Given the description of an element on the screen output the (x, y) to click on. 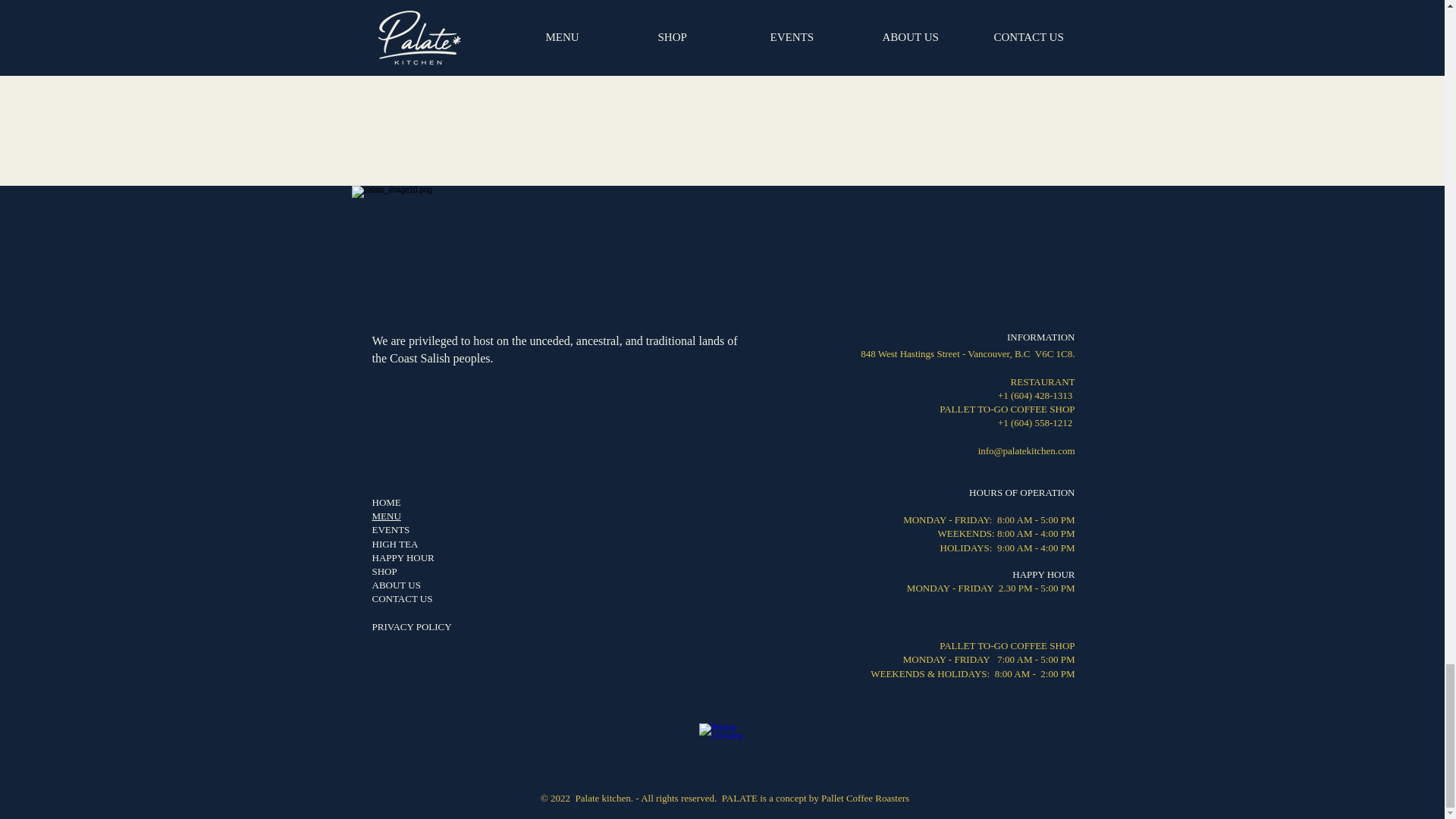
SHOP (383, 571)
CONTACT US (401, 598)
PRIVACY POLICY (411, 626)
HOME (385, 501)
MENU (385, 515)
Subscribe (898, 44)
HAPPY HOUR (402, 557)
HIGH TEA (394, 543)
ABOUT US (395, 584)
EVENTS (390, 529)
